Given the description of an element on the screen output the (x, y) to click on. 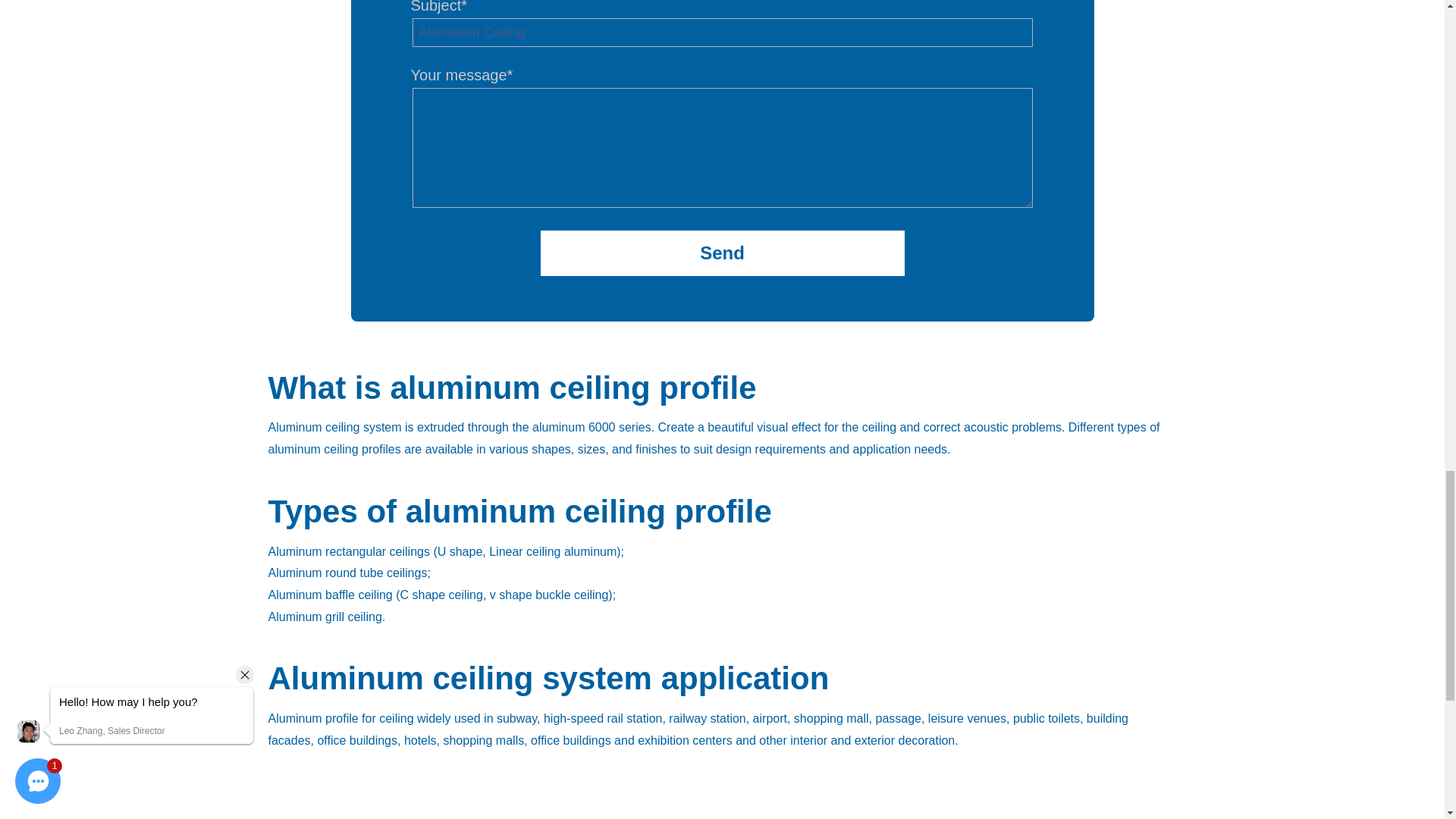
Aluminum Ceiling (722, 32)
Send (722, 253)
